Given the description of an element on the screen output the (x, y) to click on. 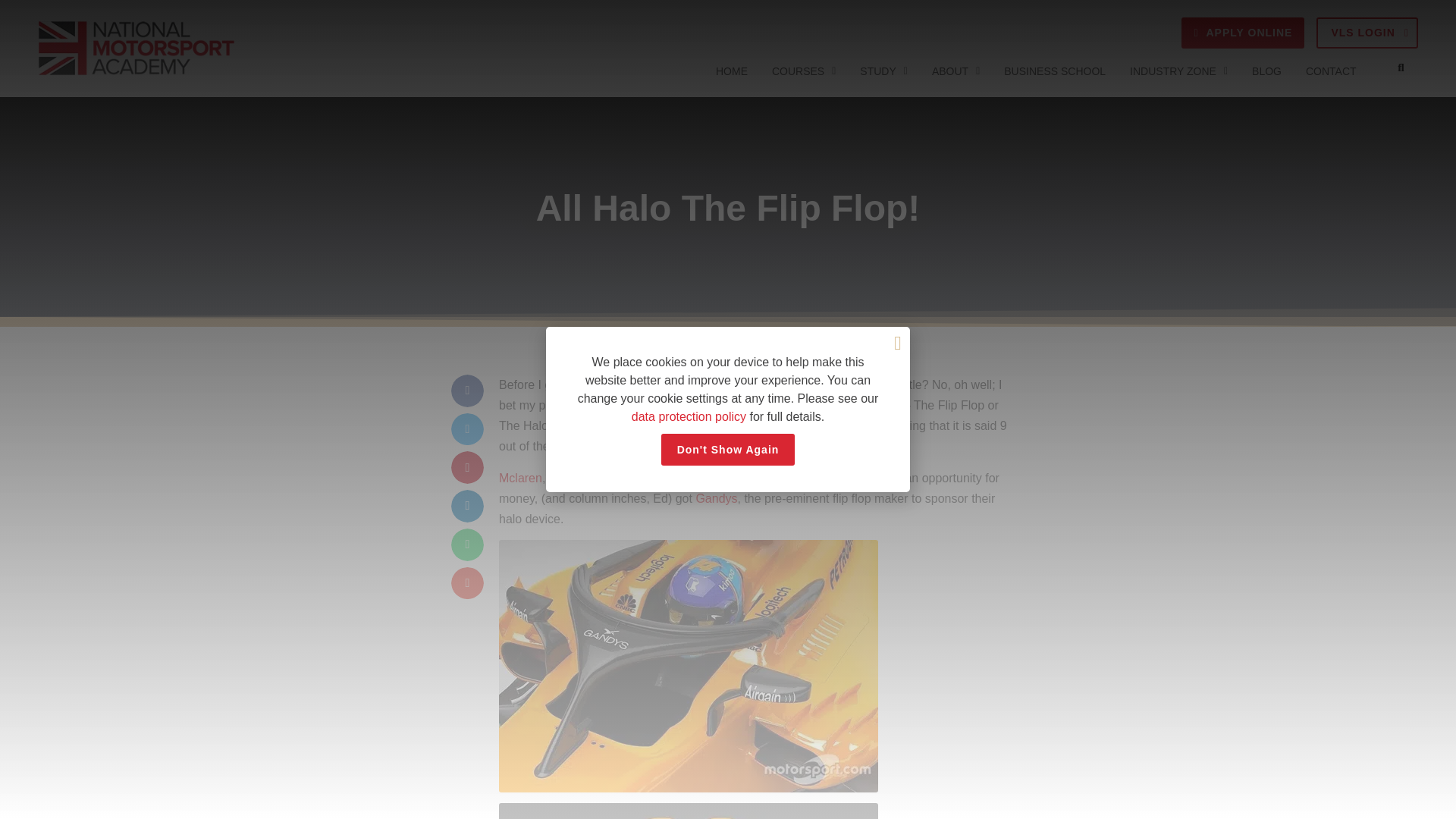
APPLY ONLINE (1242, 32)
ABOUT (955, 71)
BUSINESS SCHOOL (1054, 71)
COURSES (803, 71)
STUDY (883, 71)
All Halo the Flip Flop! (688, 665)
INDUSTRY ZONE (1179, 71)
HOME (731, 71)
VLS LOGIN (1367, 32)
